Given the description of an element on the screen output the (x, y) to click on. 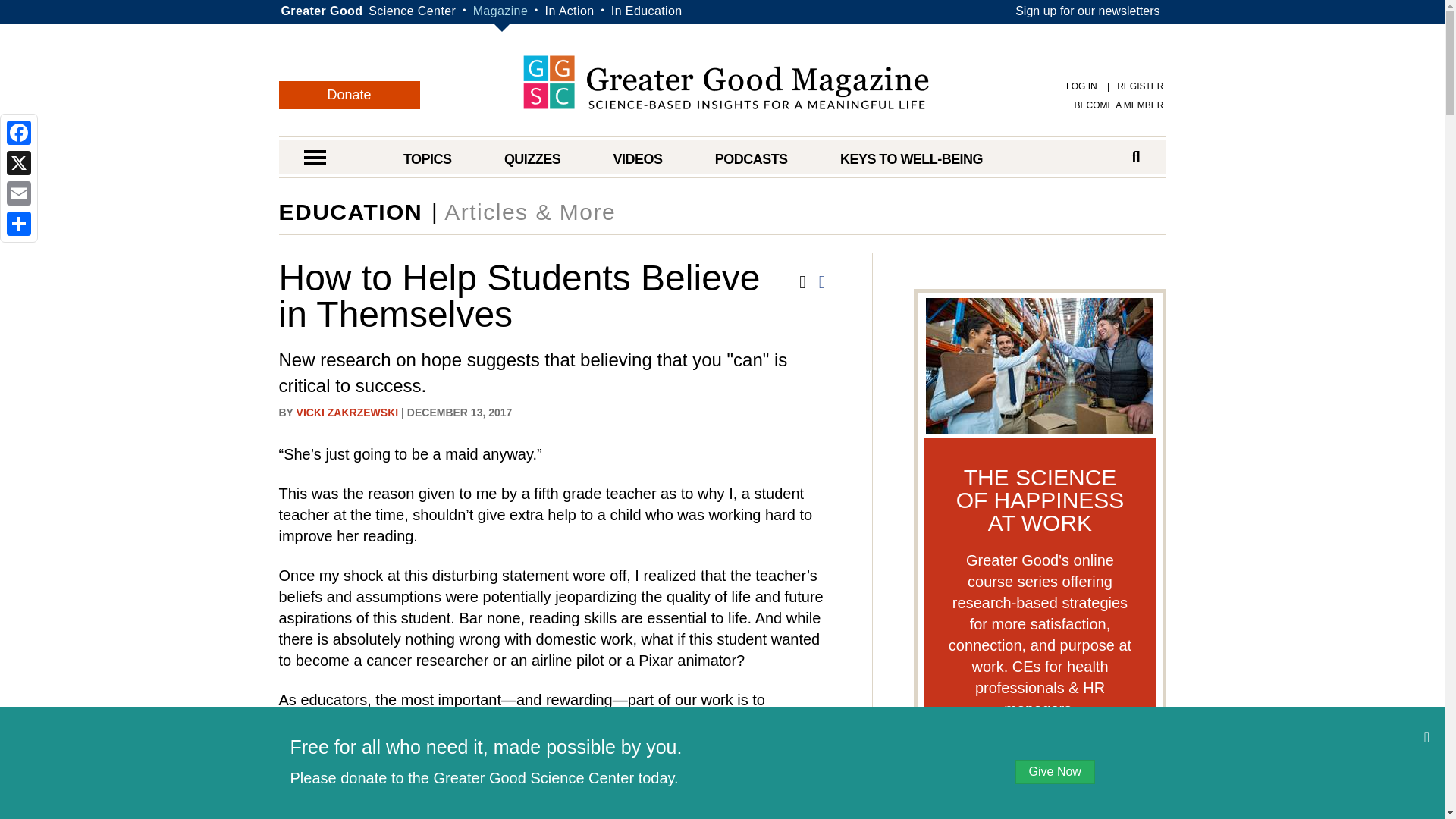
Magazine (500, 10)
QUIZZES (531, 158)
nav menu (313, 158)
Greater Good Magazine (725, 81)
In Action (569, 10)
The Science of Happiness at Work (1039, 768)
Greater Good Science Center (411, 10)
Science Center (411, 10)
The Science of Happiness at Work (1039, 364)
BECOME A MEMBER (1118, 104)
Greater Good In Action (569, 10)
Greater Good Magazine (500, 10)
TOPICS (427, 158)
Donate (349, 94)
REGISTER (1131, 86)
